Given the description of an element on the screen output the (x, y) to click on. 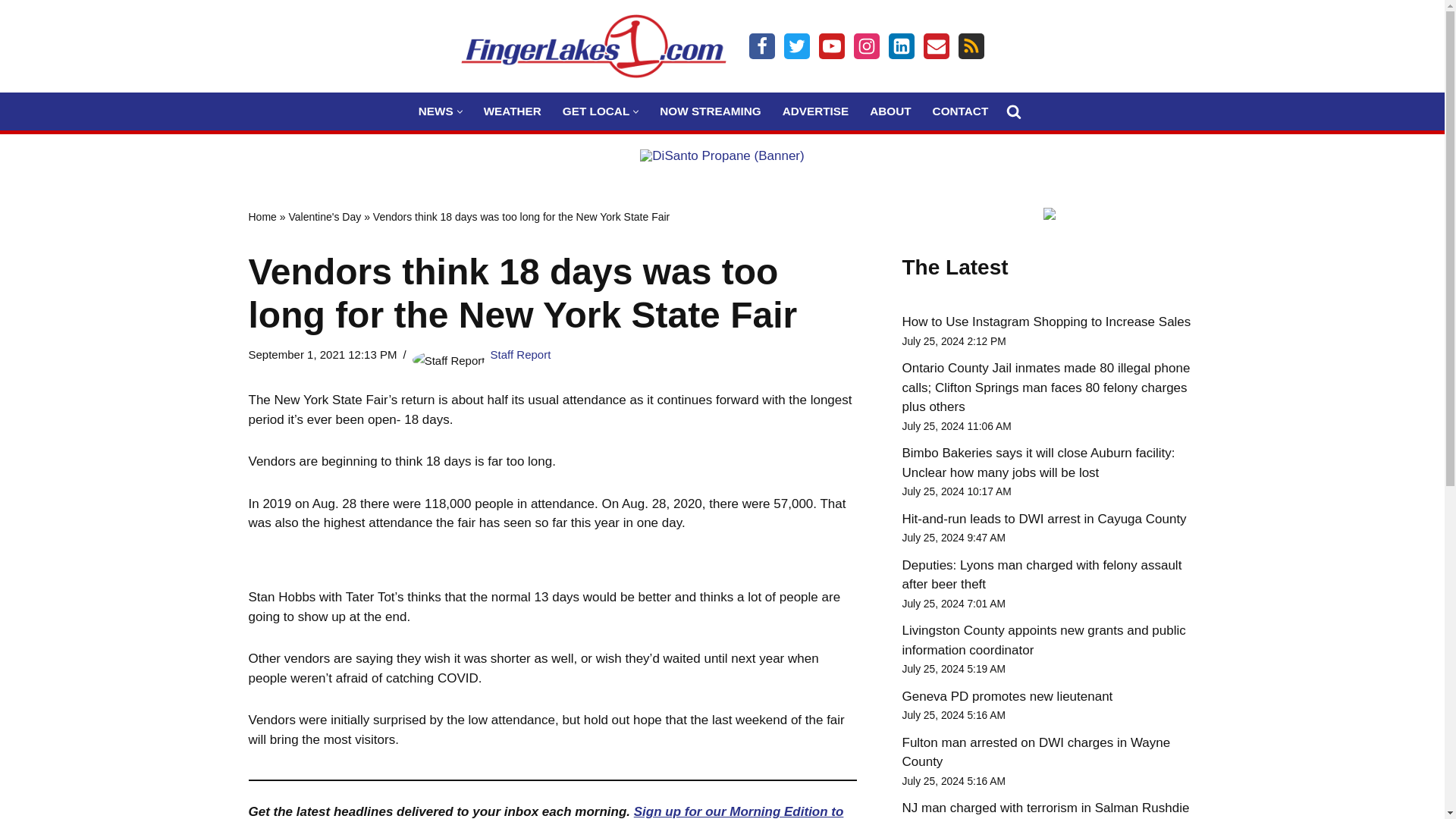
ABOUT (890, 111)
LinkIn (901, 45)
Youtube (831, 45)
Email Us (936, 45)
Instagram (866, 45)
Twitter (796, 45)
Feed (971, 45)
Posts by Staff Report (520, 354)
CONTACT (960, 111)
Skip to content (11, 31)
Facebook (761, 45)
ADVERTISE (815, 111)
WEATHER (512, 111)
NOW STREAMING (709, 111)
GET LOCAL (595, 111)
